Given the description of an element on the screen output the (x, y) to click on. 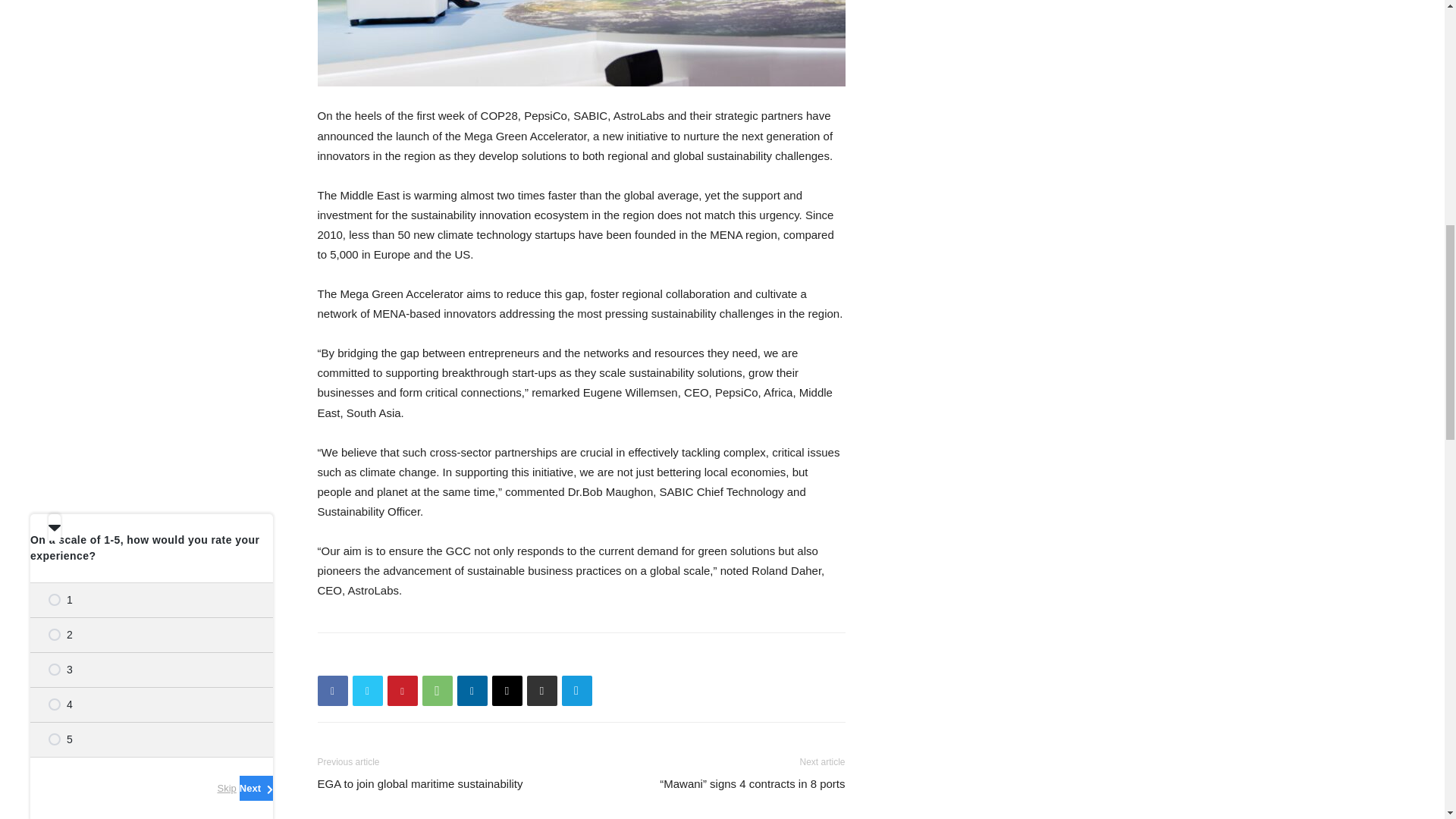
12-PepsiCo Mega Green Accelerator fireside chat (580, 43)
